Given the description of an element on the screen output the (x, y) to click on. 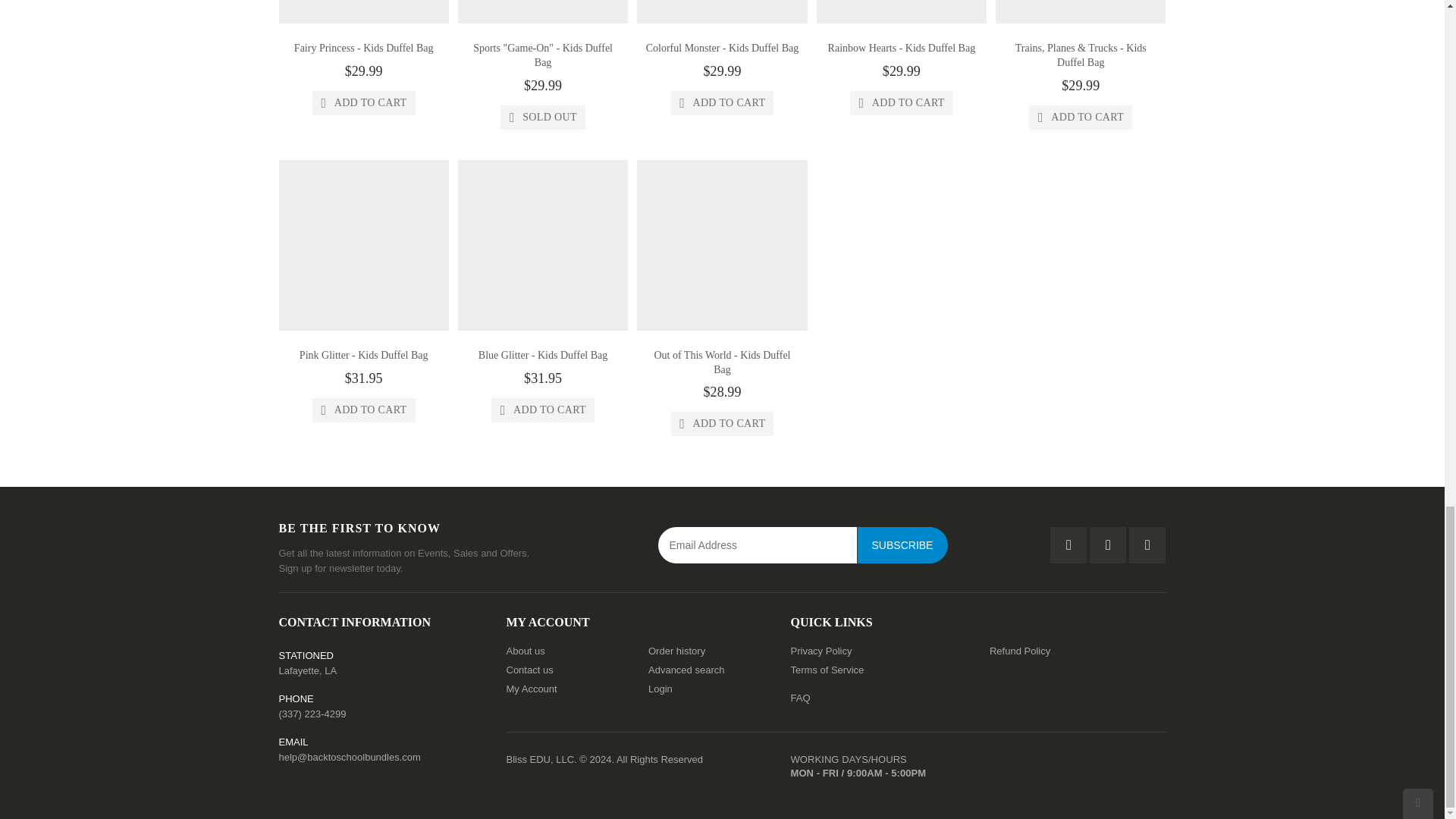
Blue Glitter - Kids Duffel Bag (543, 355)
Colorful Monster - Kids Duffel Bag (722, 48)
Rainbow Hearts - Kids Duffel Bag (901, 48)
Pink Glitter - Kids Duffel Bag (363, 355)
Sports  (542, 54)
Fairy Princess - Kids Duffel Bag (363, 48)
Out of This World - Kids Duffel Bag (721, 362)
